Given the description of an element on the screen output the (x, y) to click on. 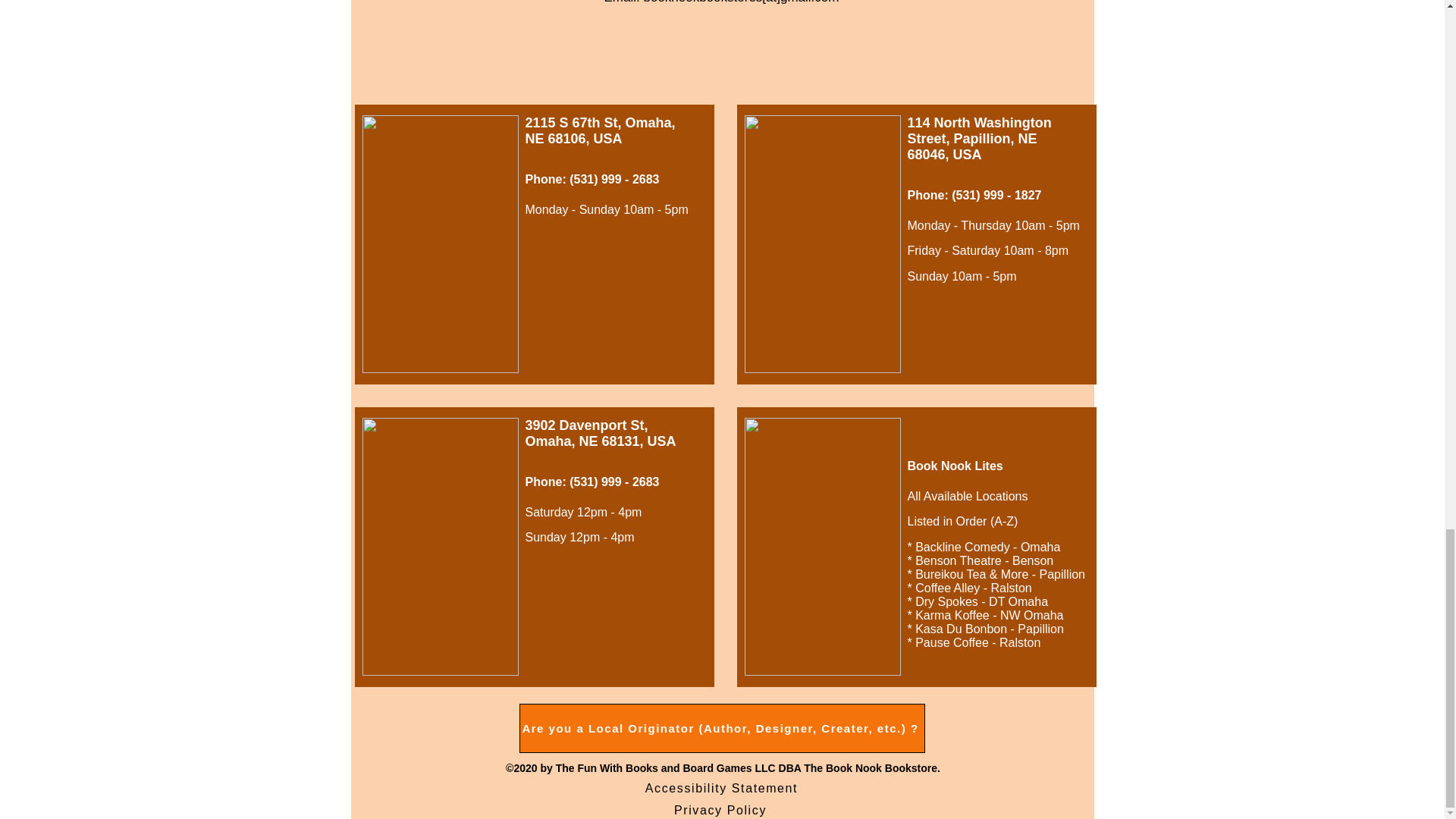
Accessibility Statement (723, 788)
